Given the description of an element on the screen output the (x, y) to click on. 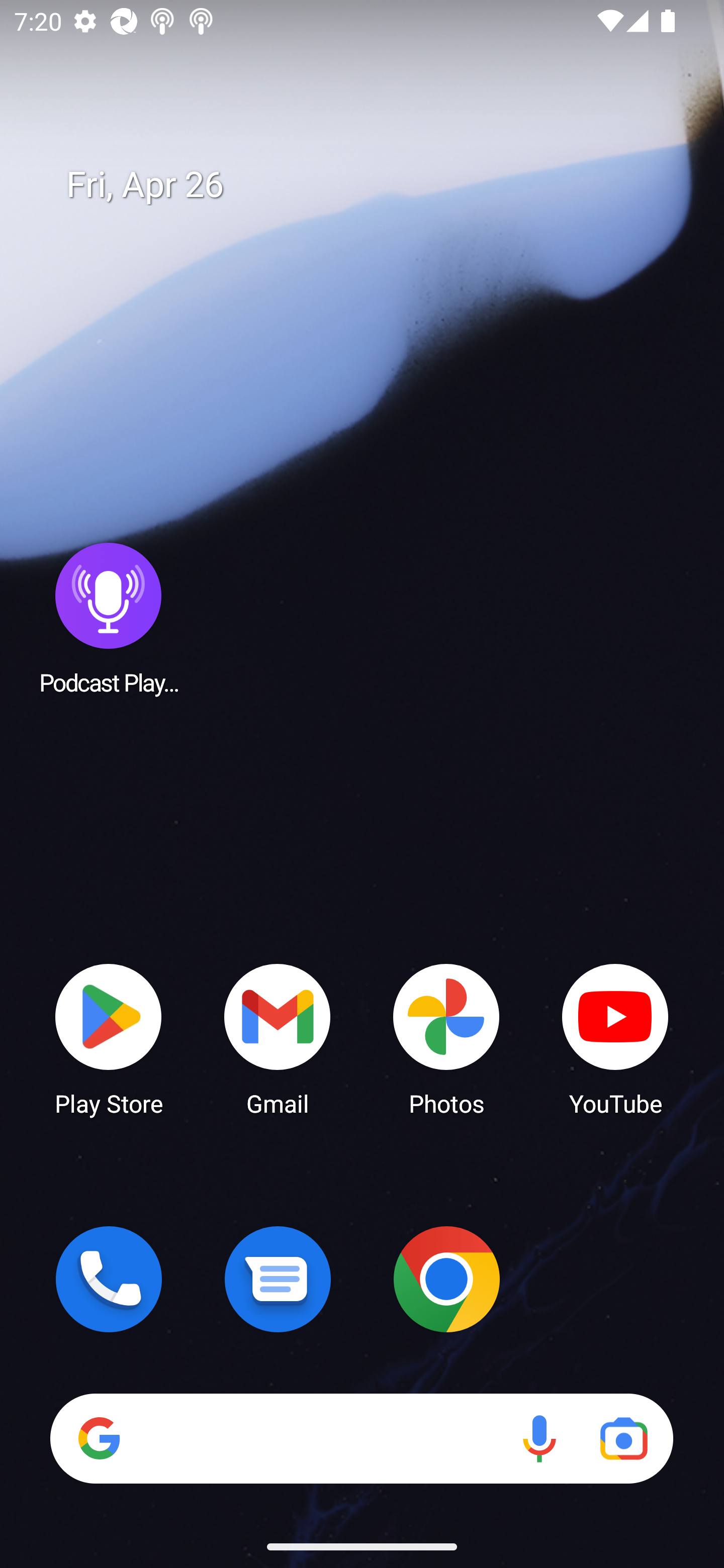
Fri, Apr 26 (375, 184)
Podcast Player (108, 617)
Play Store (108, 1038)
Gmail (277, 1038)
Photos (445, 1038)
YouTube (615, 1038)
Phone (108, 1279)
Messages (277, 1279)
Chrome (446, 1279)
Search Voice search Google Lens (361, 1438)
Voice search (539, 1438)
Google Lens (623, 1438)
